Given the description of an element on the screen output the (x, y) to click on. 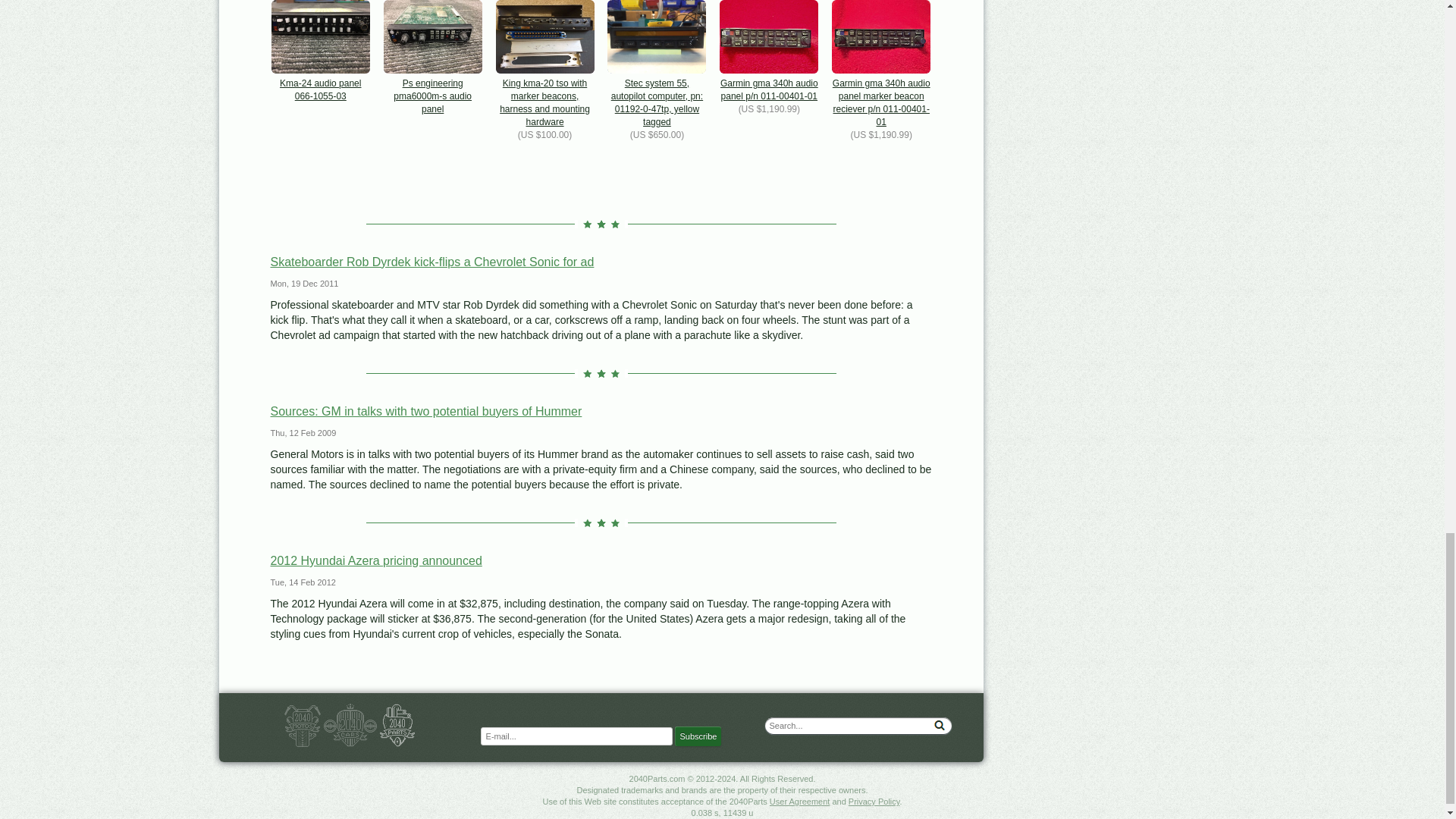
Sources: GM in talks with two potential buyers of Hummer (424, 410)
Cars (350, 724)
User Agreement (799, 800)
2012 Hyundai Azera pricing announced (375, 560)
Kma-24 audio panel 066-1055-03 (319, 51)
Skateboarder Rob Dyrdek kick-flips a Chevrolet Sonic for ad (431, 261)
Subscribe (697, 736)
Privacy Policy (873, 800)
Subscribe (697, 736)
